Given the description of an element on the screen output the (x, y) to click on. 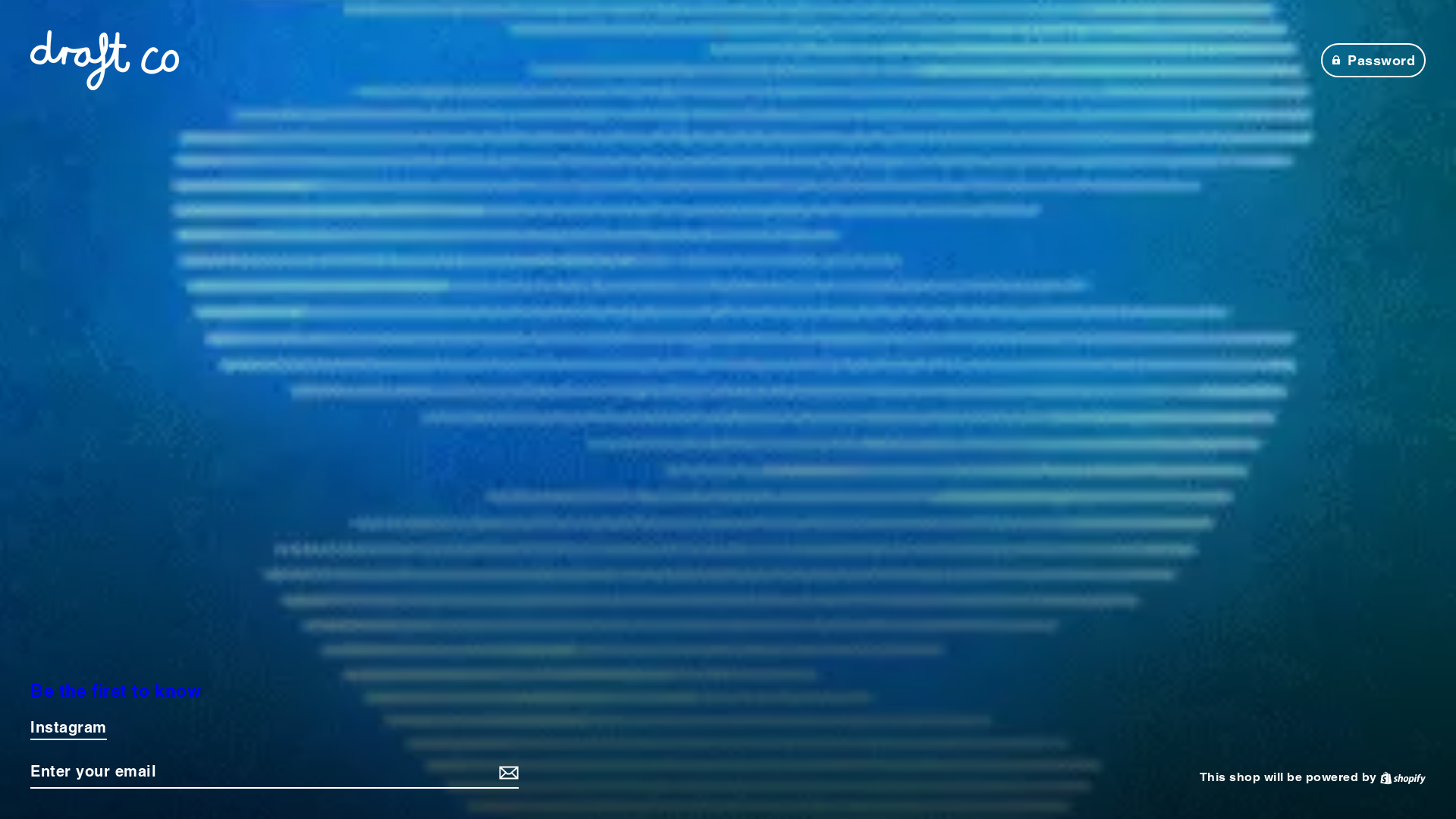
Instagram Element type: text (68, 728)
Shopify Element type: text (1402, 776)
Subscribe Element type: hover (506, 771)
Password Element type: text (1373, 60)
